Given the description of an element on the screen output the (x, y) to click on. 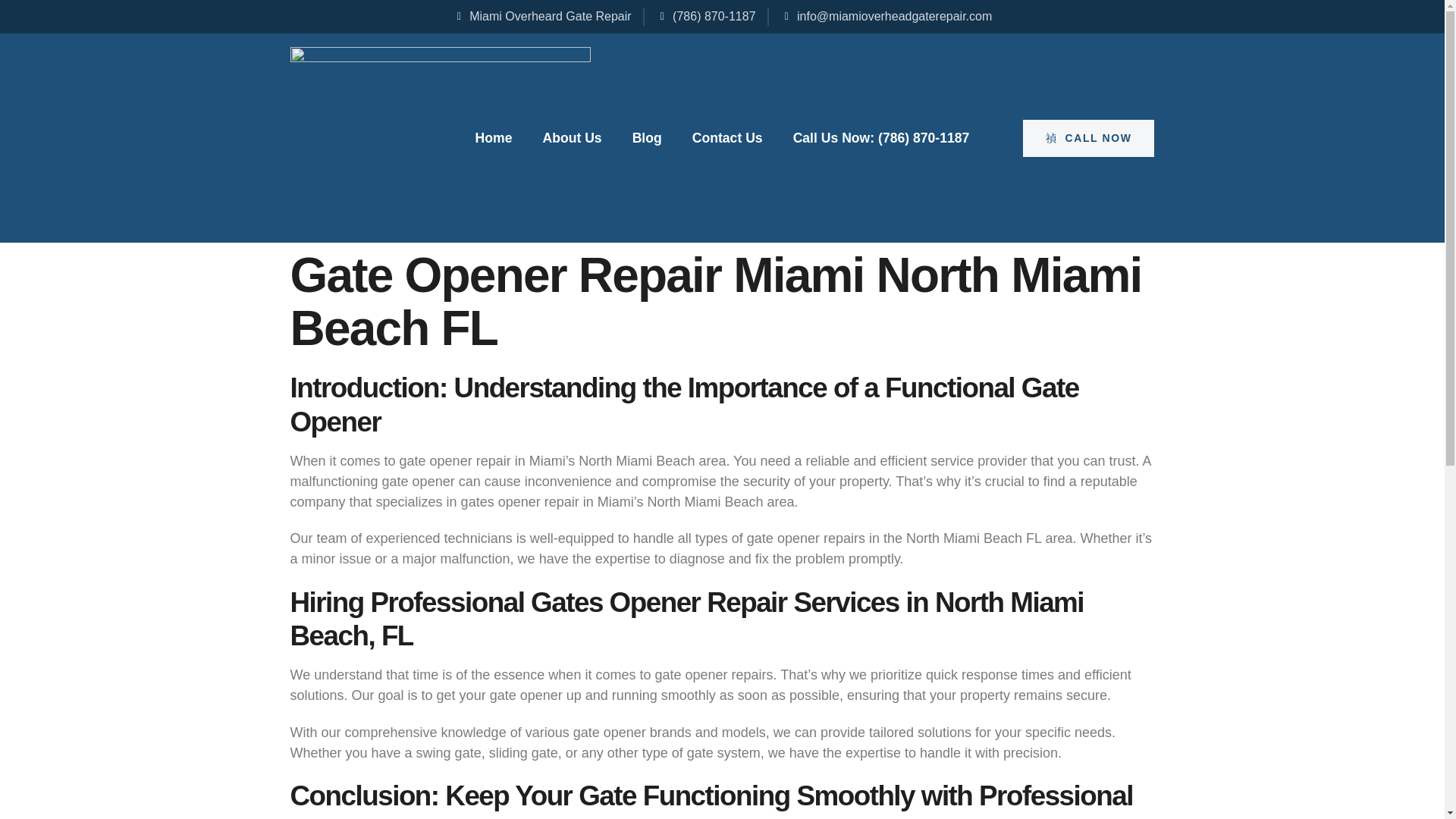
Home (494, 138)
Miami Overheard Gate Repair (541, 16)
About Us (571, 138)
Contact Us (727, 138)
CALL NOW (1088, 138)
